Given the description of an element on the screen output the (x, y) to click on. 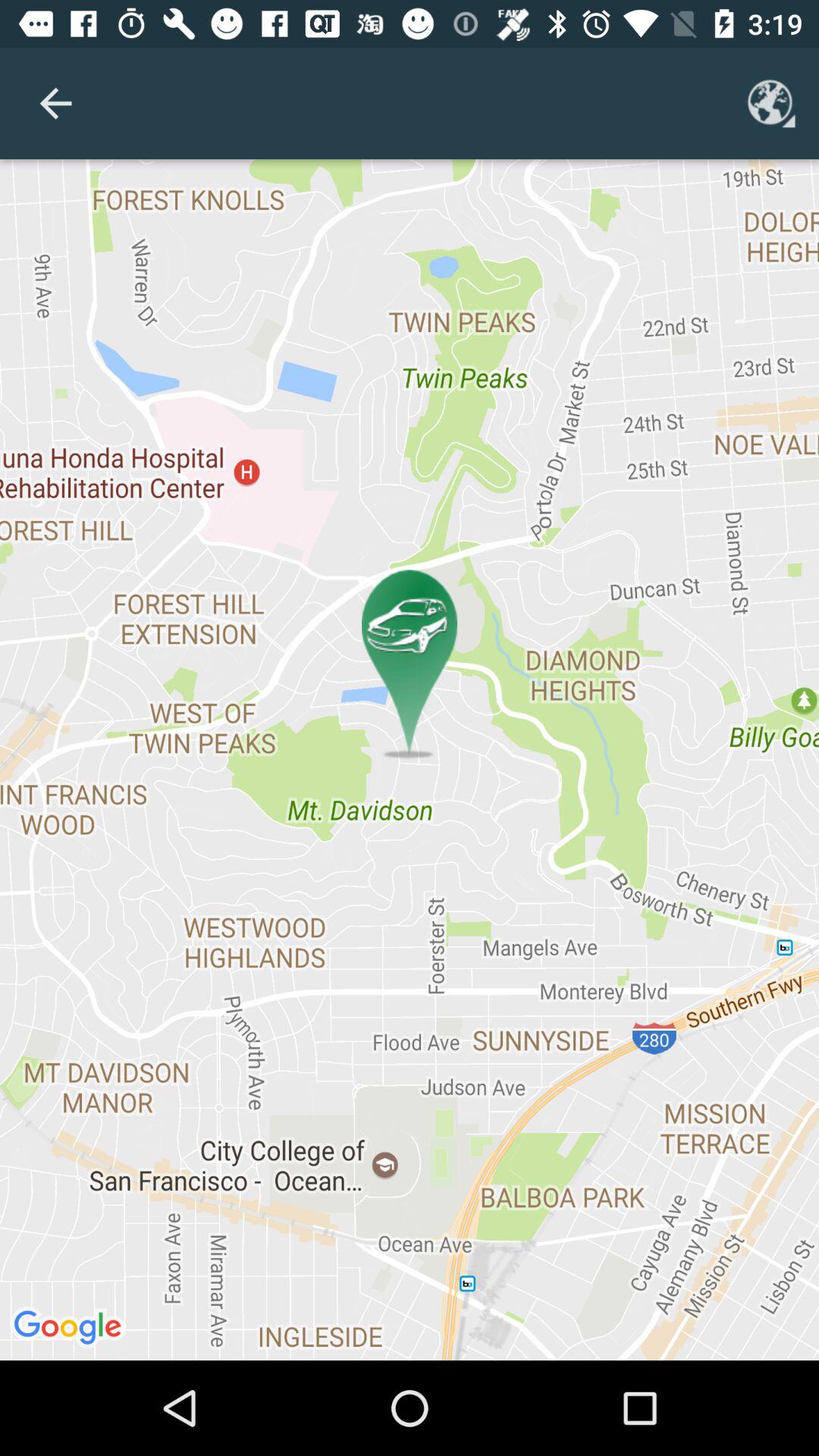
toggles option for larger view of area (771, 103)
